Given the description of an element on the screen output the (x, y) to click on. 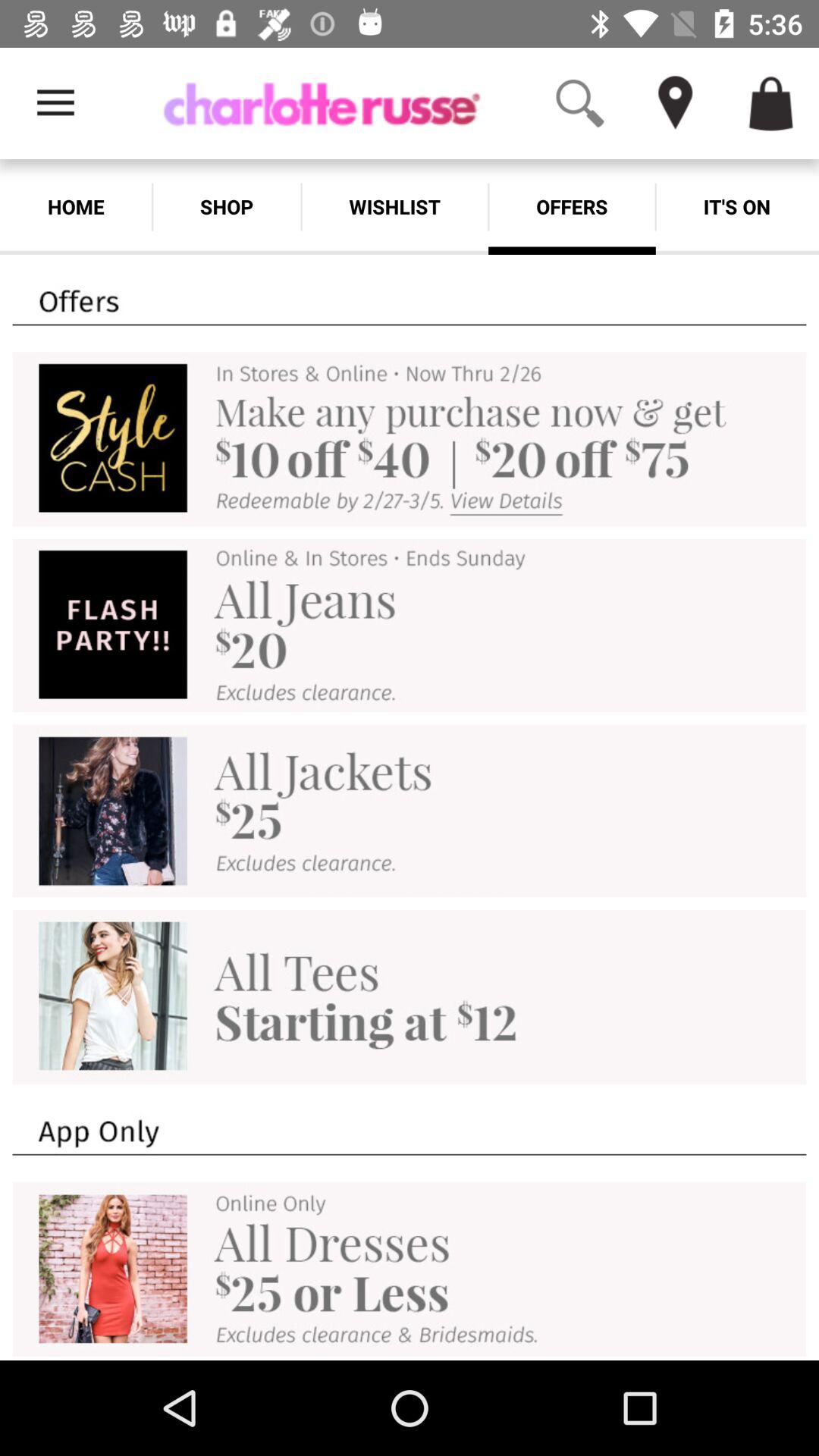
press the item above offers (675, 103)
